Given the description of an element on the screen output the (x, y) to click on. 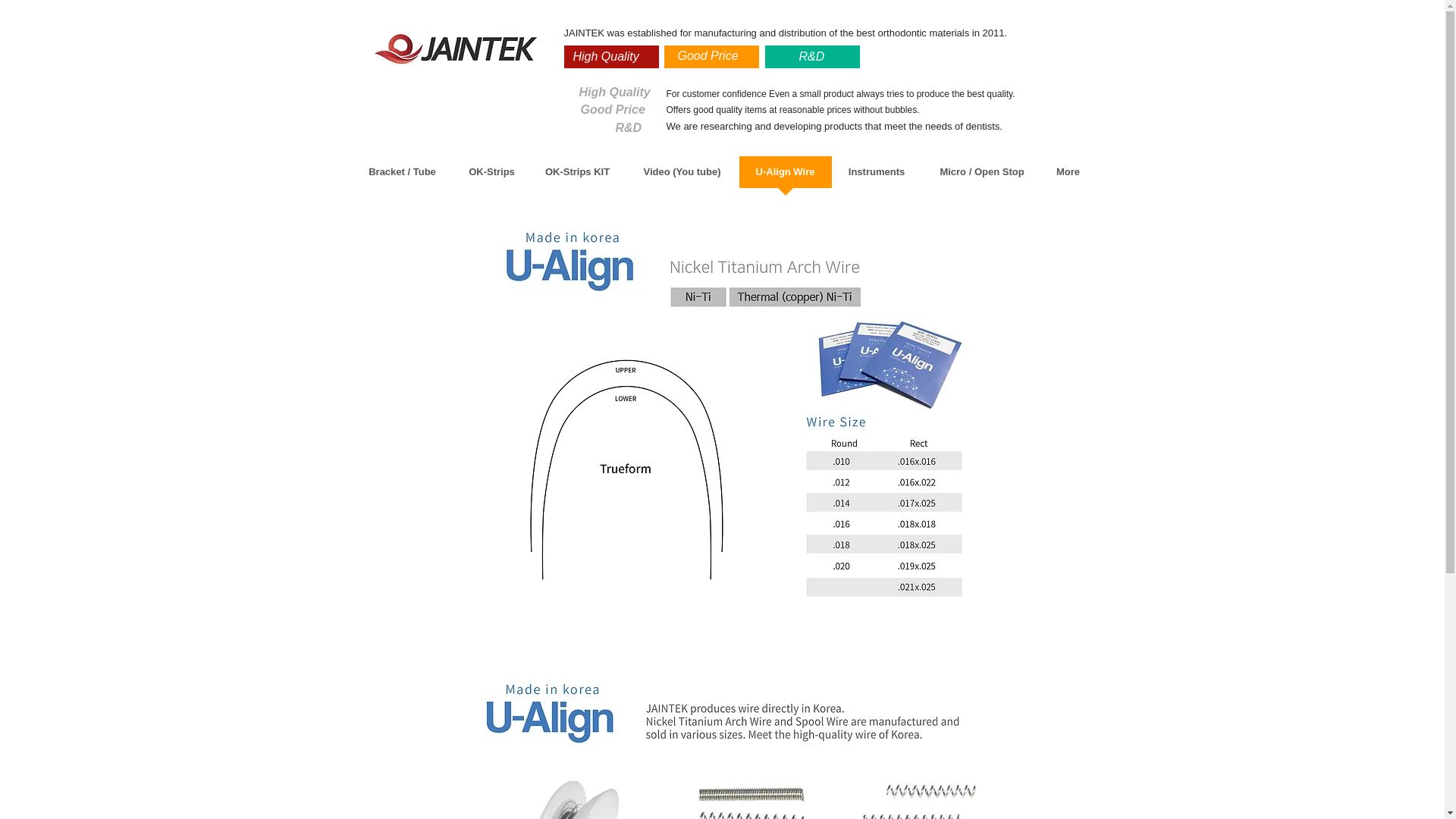
Instruments (876, 177)
OK-Strips KIT (576, 177)
OK-Strips (490, 177)
U-Align Wire (784, 177)
